Given the description of an element on the screen output the (x, y) to click on. 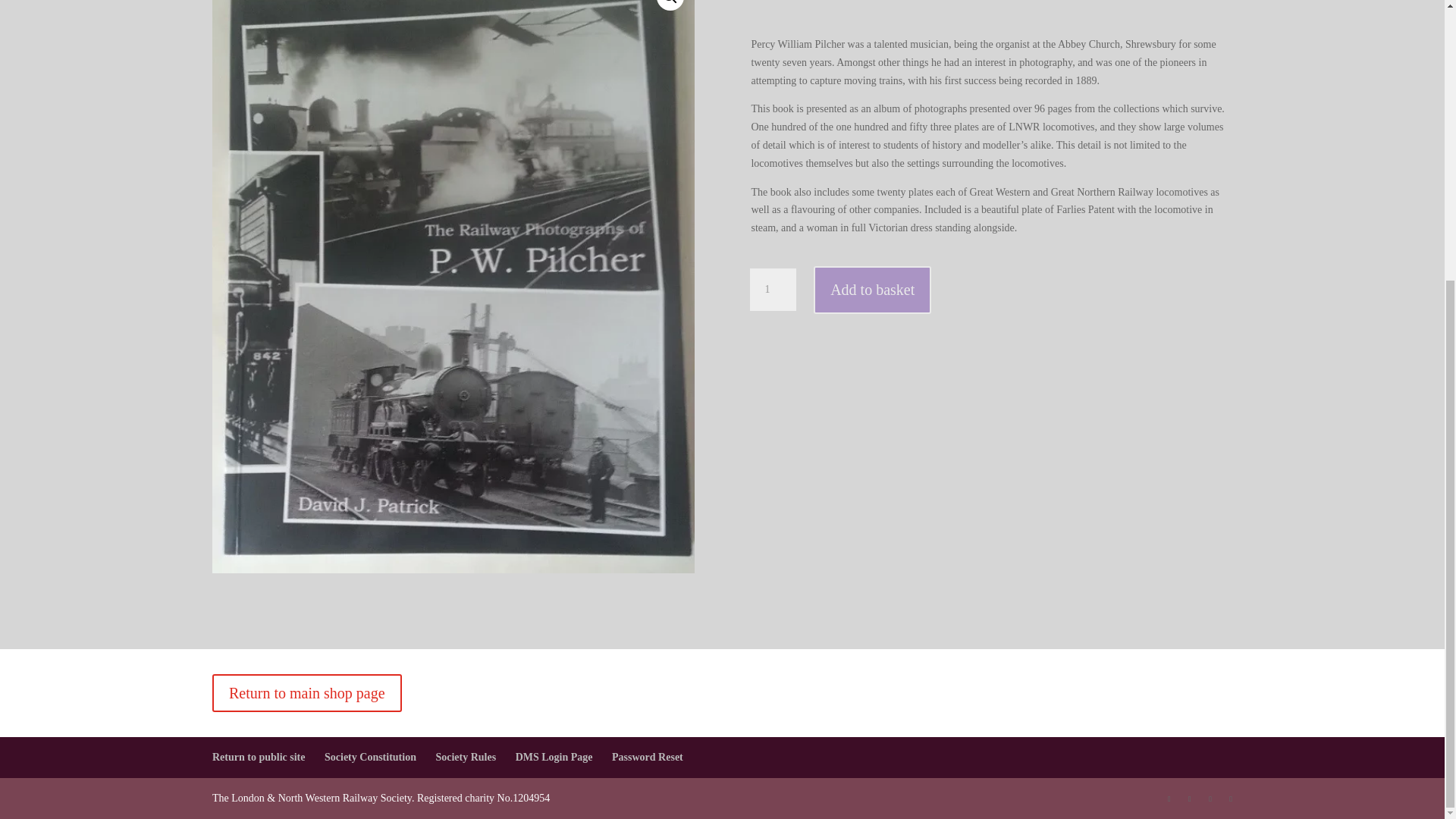
Password Reset (646, 756)
Society Constitution (370, 756)
DMS Login Page (553, 756)
1 (771, 289)
Return to public site (258, 756)
Return to main shop page (306, 692)
Society Rules (465, 756)
Add to basket (872, 289)
